Given the description of an element on the screen output the (x, y) to click on. 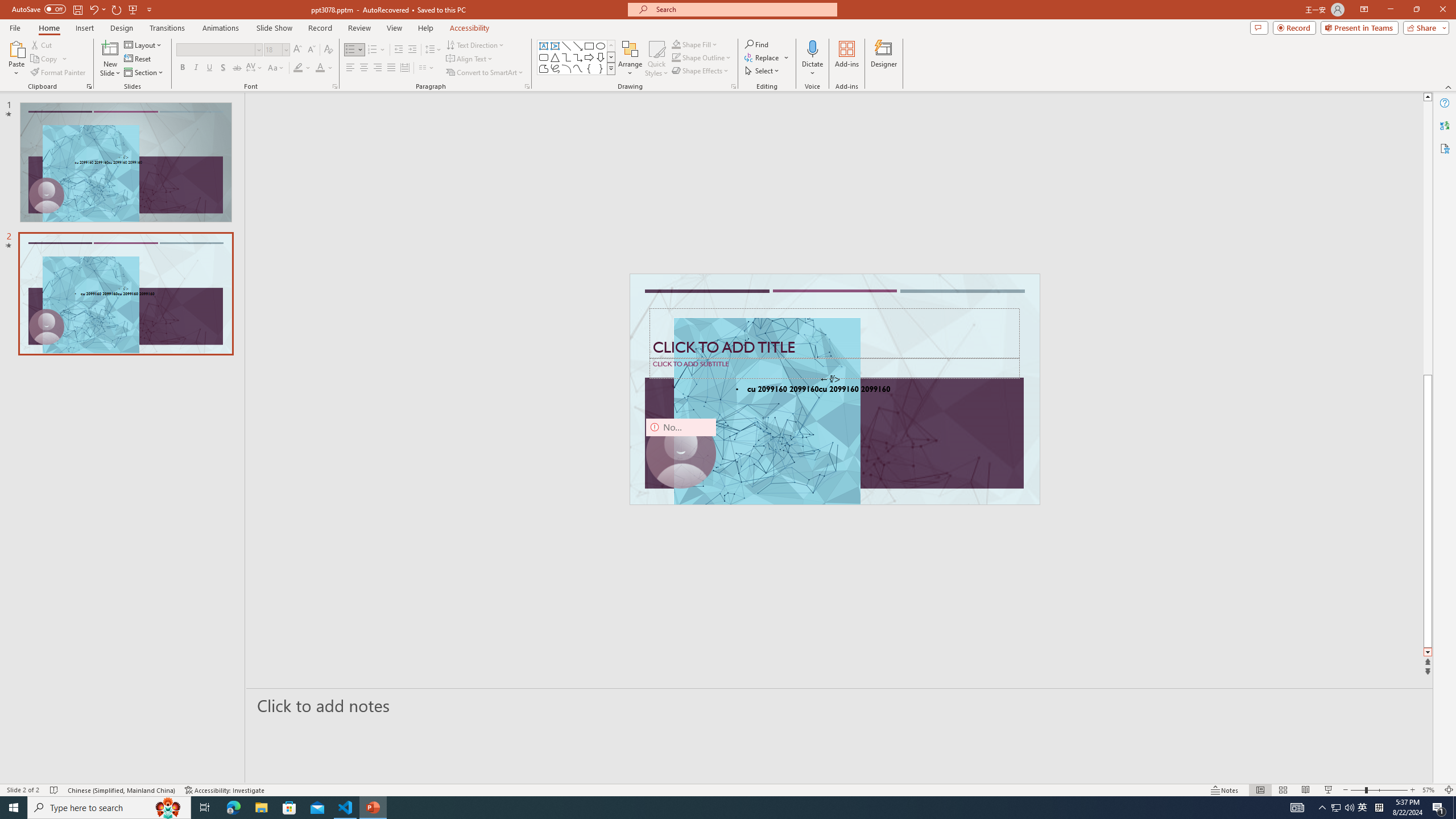
TextBox 61 (833, 390)
